Given the description of an element on the screen output the (x, y) to click on. 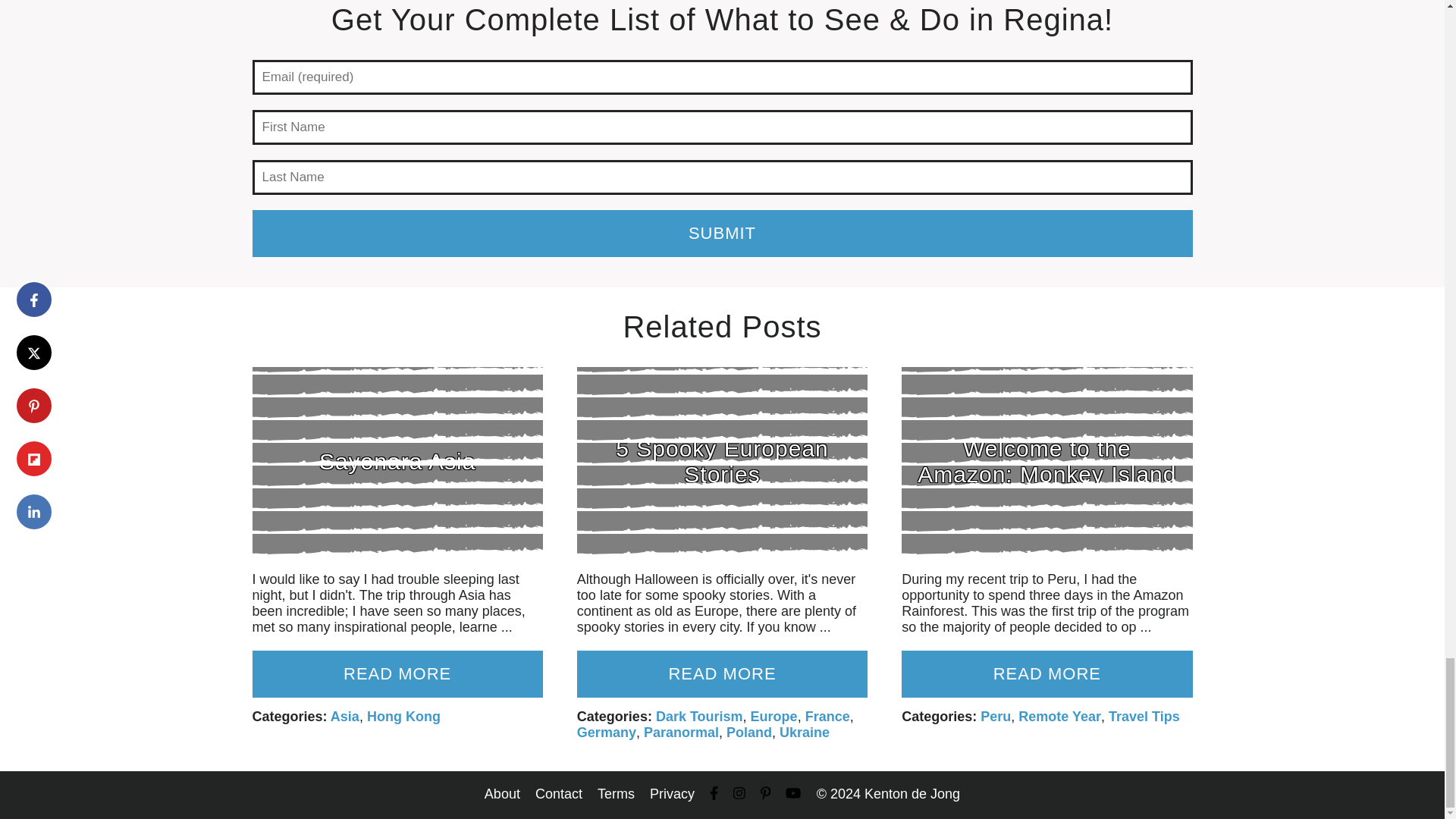
5 Spooky European Stories (721, 461)
Poland (748, 732)
Submit (721, 233)
Submit (721, 233)
READ MORE (396, 673)
Germany (606, 732)
READ MORE (721, 673)
France (827, 716)
Paranormal (681, 732)
Asia (344, 716)
